Given the description of an element on the screen output the (x, y) to click on. 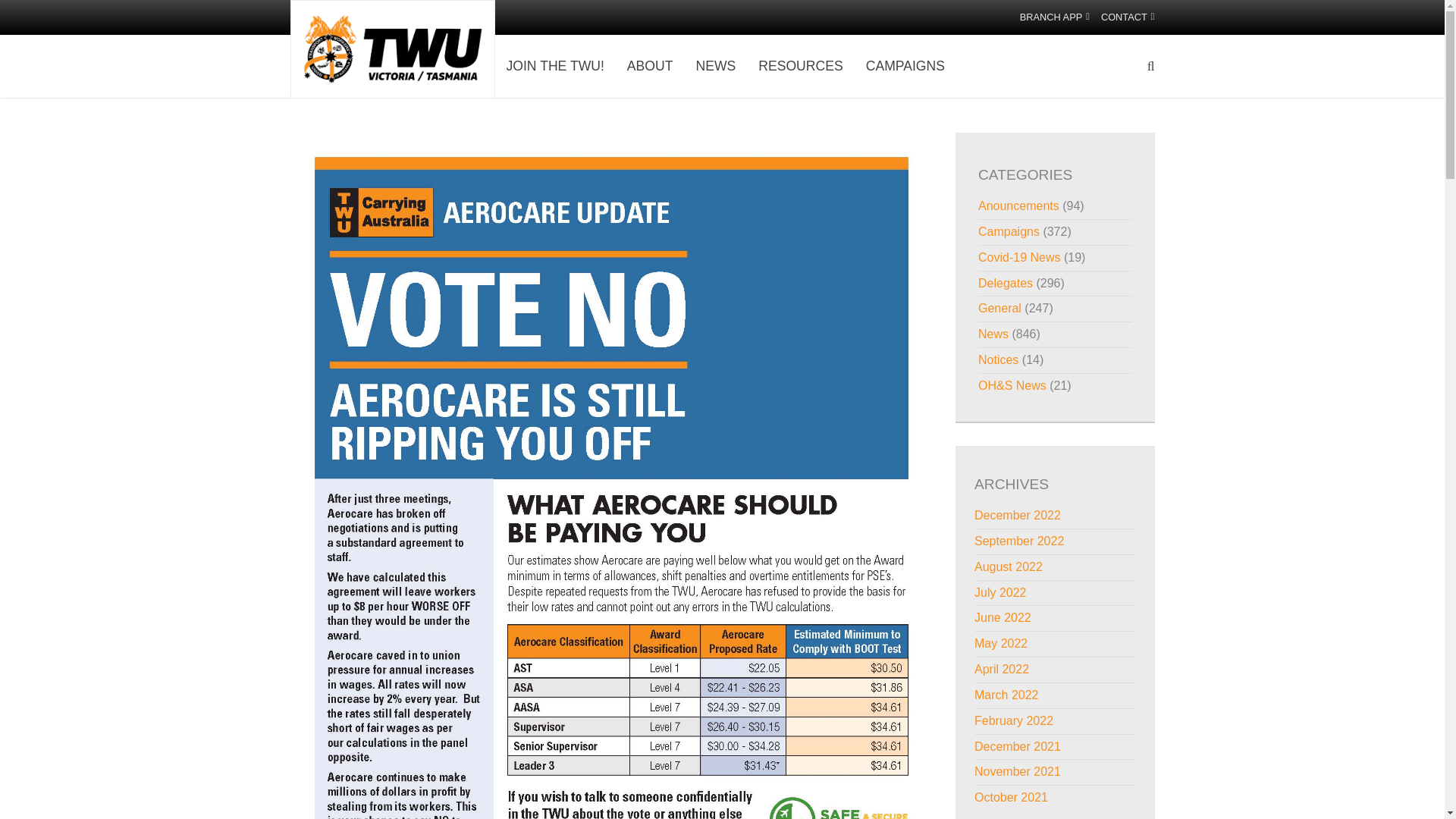
Anouncements (1018, 205)
News (993, 333)
Campaigns (1008, 231)
Covid-19 News (1018, 256)
General (1000, 308)
RESOURCES (811, 66)
Delegates (1005, 282)
ABOUT (661, 66)
CAMPAIGNS (917, 66)
BRANCH APP (1049, 17)
